Given the description of an element on the screen output the (x, y) to click on. 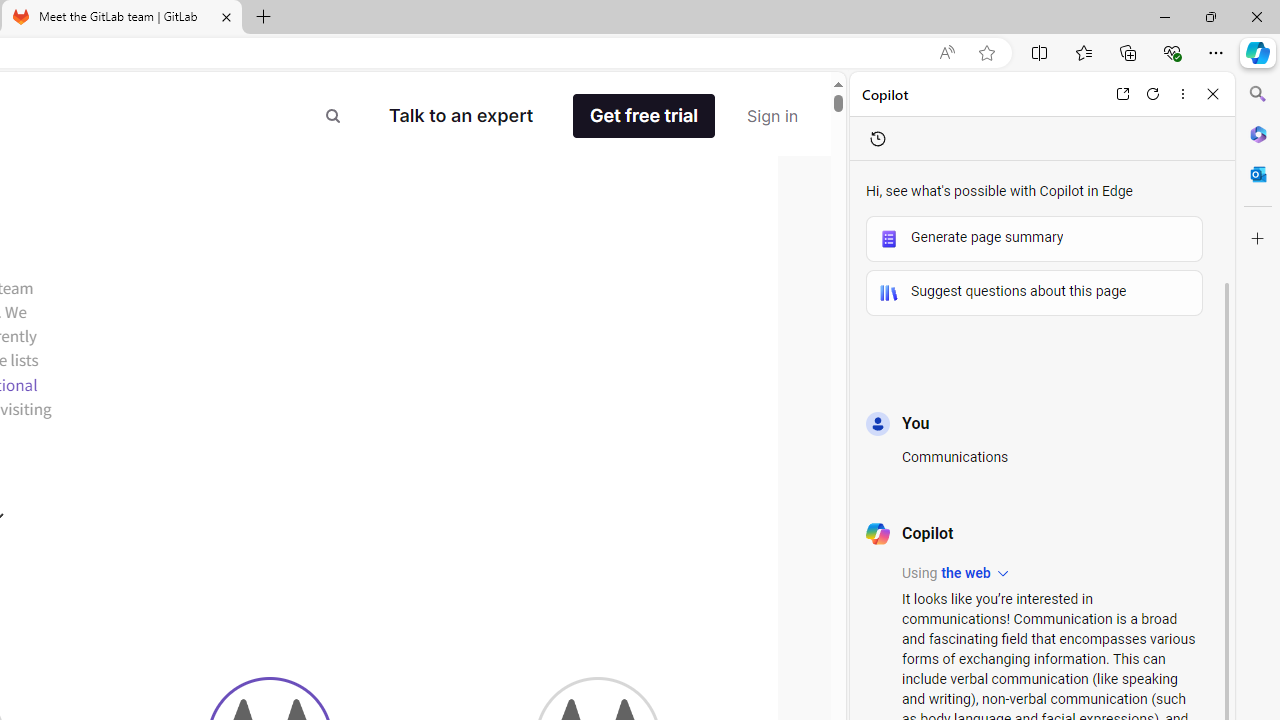
Get free trial (644, 116)
Talk to an expert (461, 115)
